Given the description of an element on the screen output the (x, y) to click on. 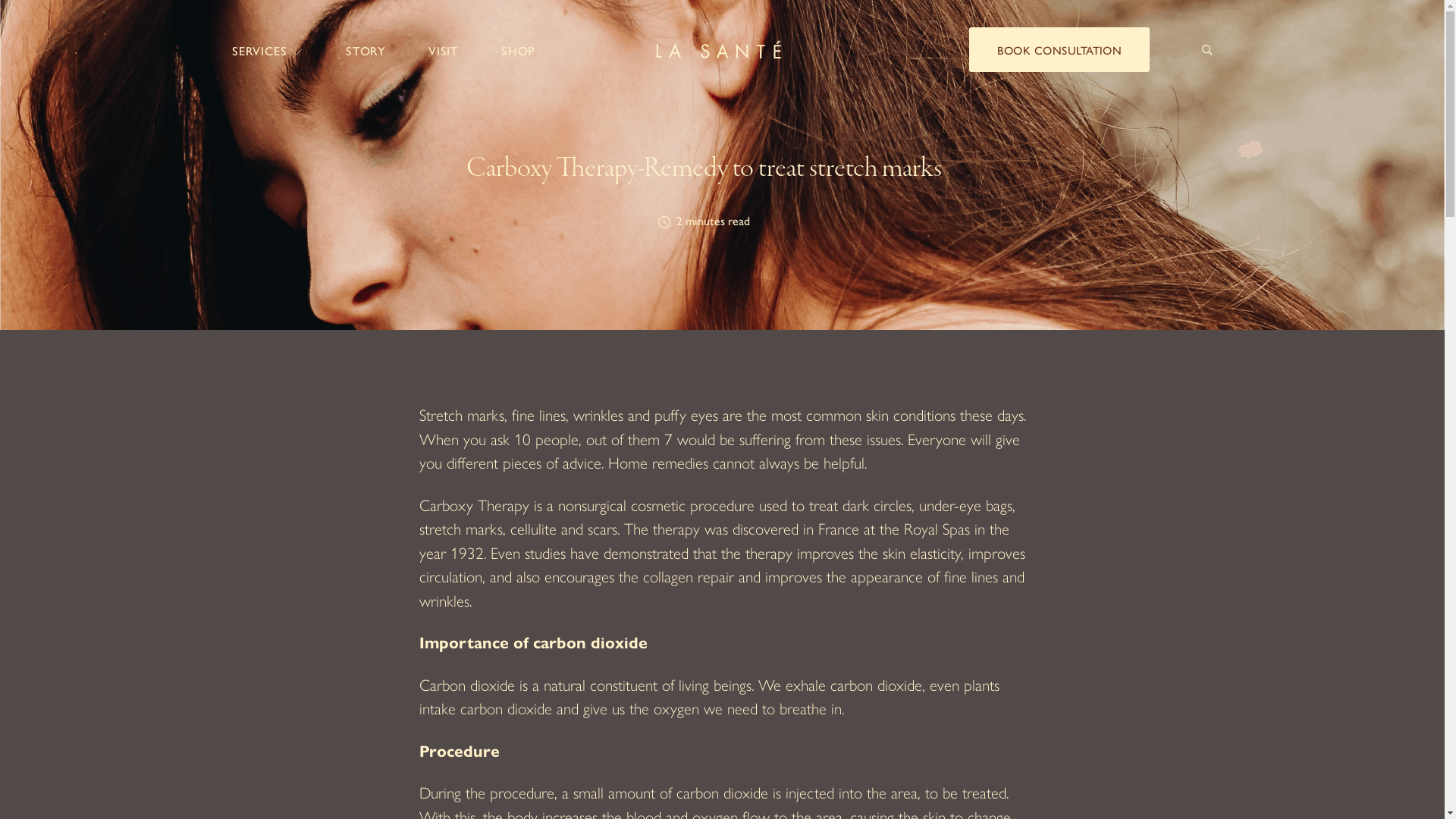
VISIT Element type: text (443, 50)
SERVICES Element type: text (267, 50)
BOOK CONSULTATION Element type: text (1059, 49)
SHOP Element type: text (518, 50)
STORY Element type: text (365, 50)
